Given the description of an element on the screen output the (x, y) to click on. 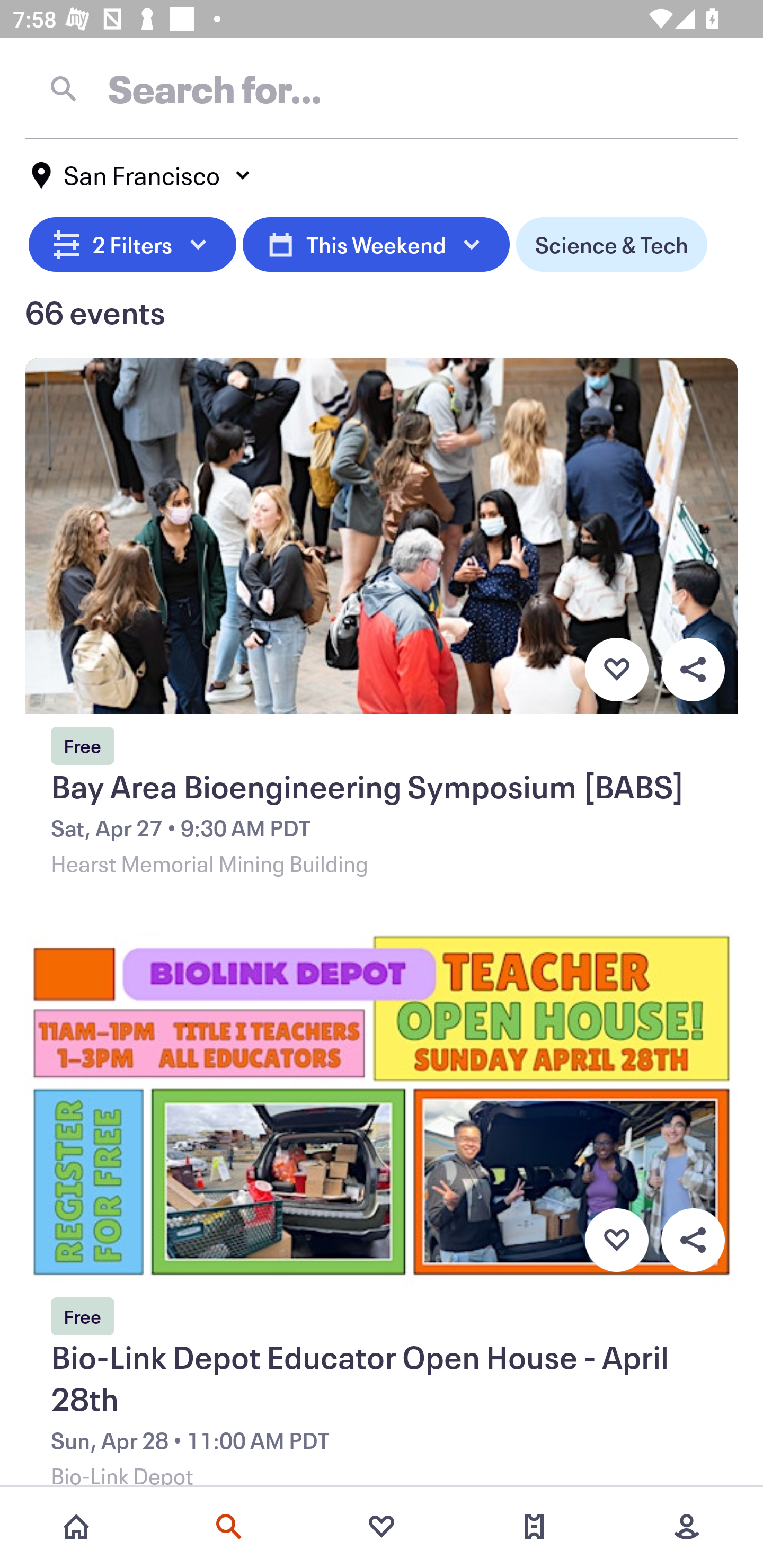
Search for… (381, 88)
San Francisco (141, 175)
2 Filters (132, 241)
This Weekend (375, 241)
Science & Tech (611, 241)
Favorite button (616, 669)
Overflow menu button (692, 669)
Favorite button (616, 1239)
Overflow menu button (692, 1239)
Home (76, 1526)
Search events (228, 1526)
Favorites (381, 1526)
Tickets (533, 1526)
More (686, 1526)
